Given the description of an element on the screen output the (x, y) to click on. 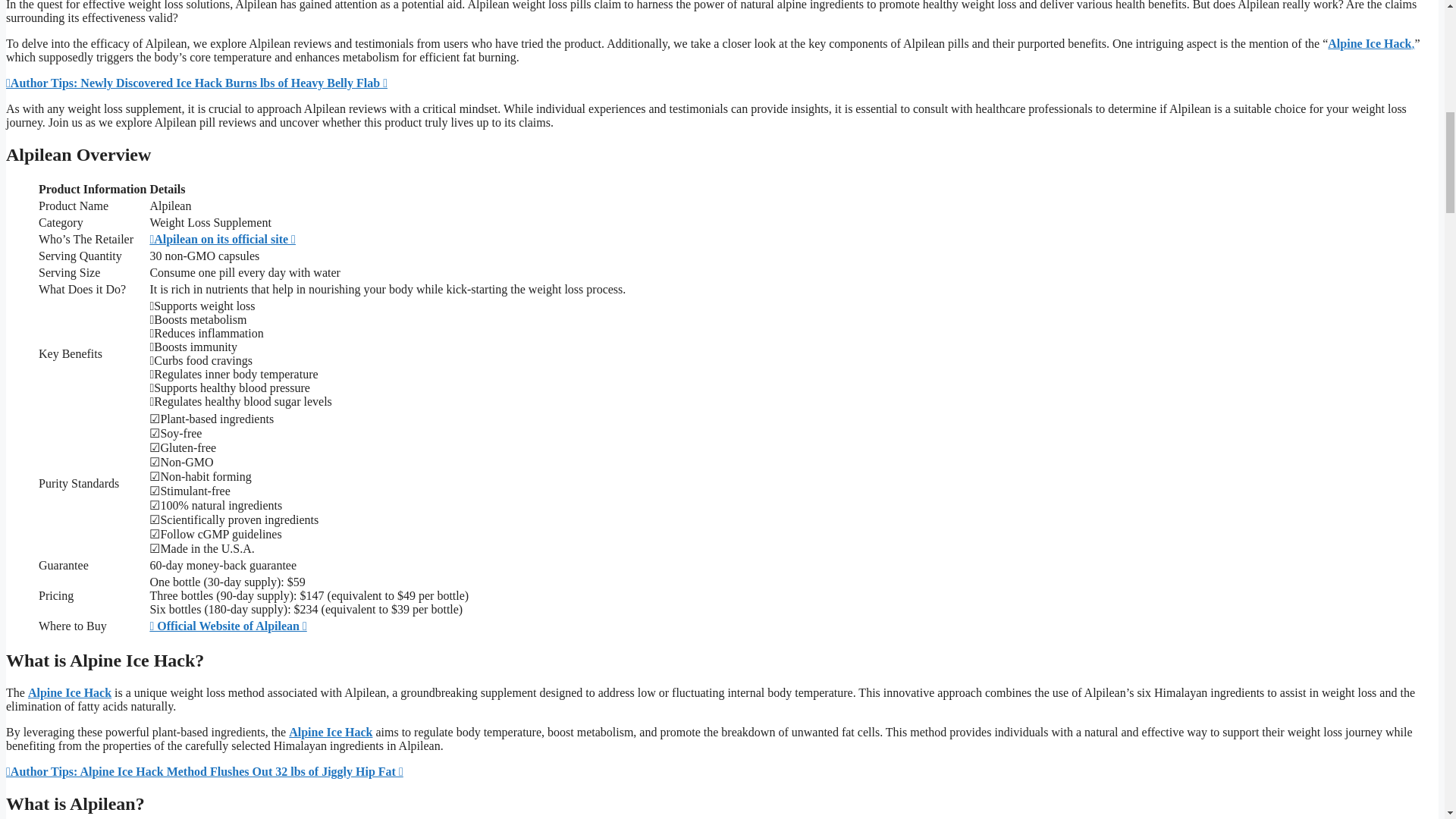
Alpine Ice Hack (330, 731)
Alpine Ice Hack, (1370, 42)
Alpine Ice Hack (69, 692)
